Given the description of an element on the screen output the (x, y) to click on. 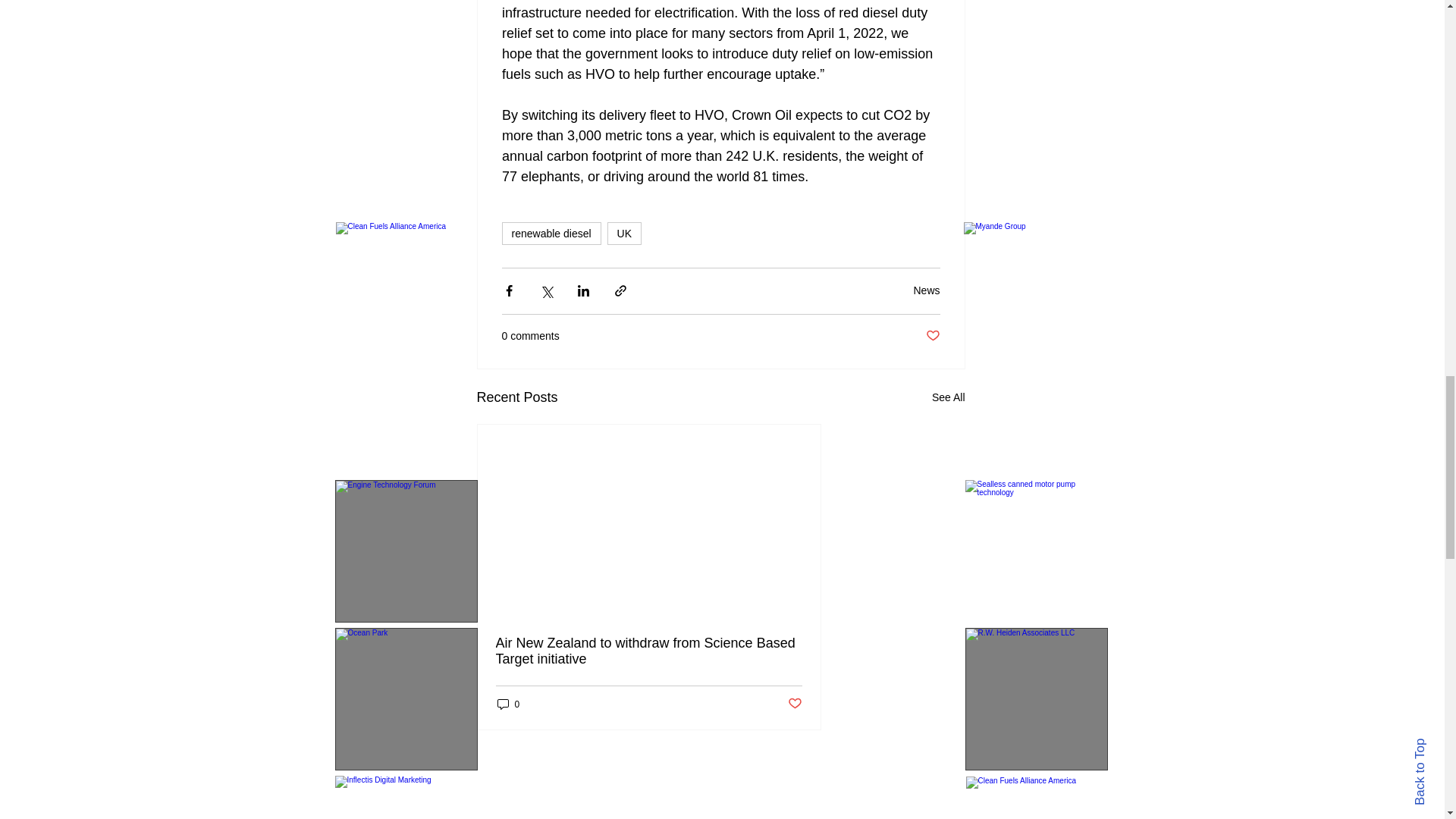
Post not marked as liked (794, 703)
UK (624, 232)
Post not marked as liked (931, 335)
News (925, 290)
0 (508, 703)
See All (948, 397)
Engine Technology Forum (405, 550)
Clean Fuels Alliance America (1037, 797)
renewable diesel (551, 232)
R.W. Heiden Associates LLC (1034, 699)
Inflectis Digital Marketing  (405, 797)
